Given the description of an element on the screen output the (x, y) to click on. 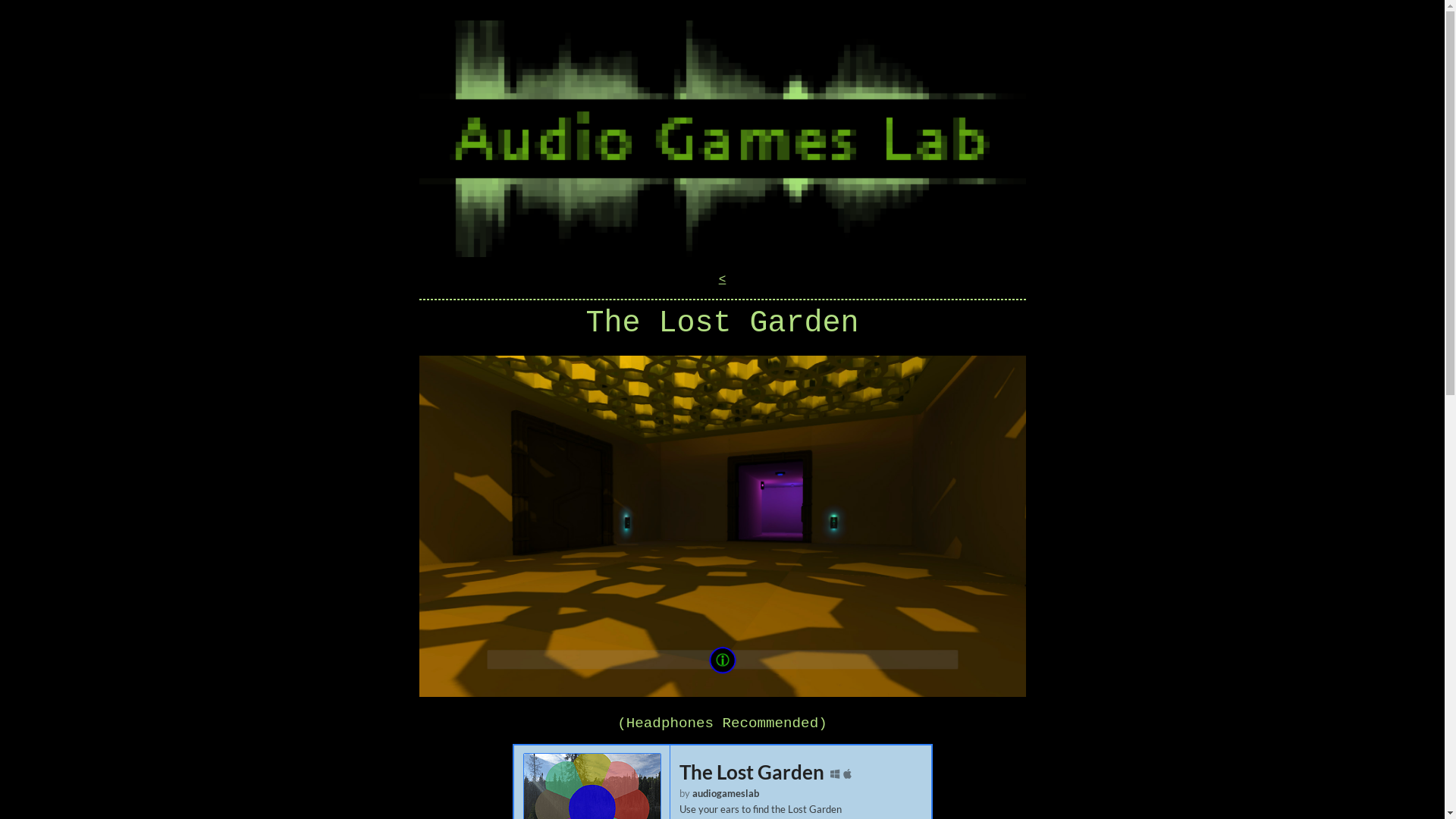
< Element type: text (722, 279)
